Given the description of an element on the screen output the (x, y) to click on. 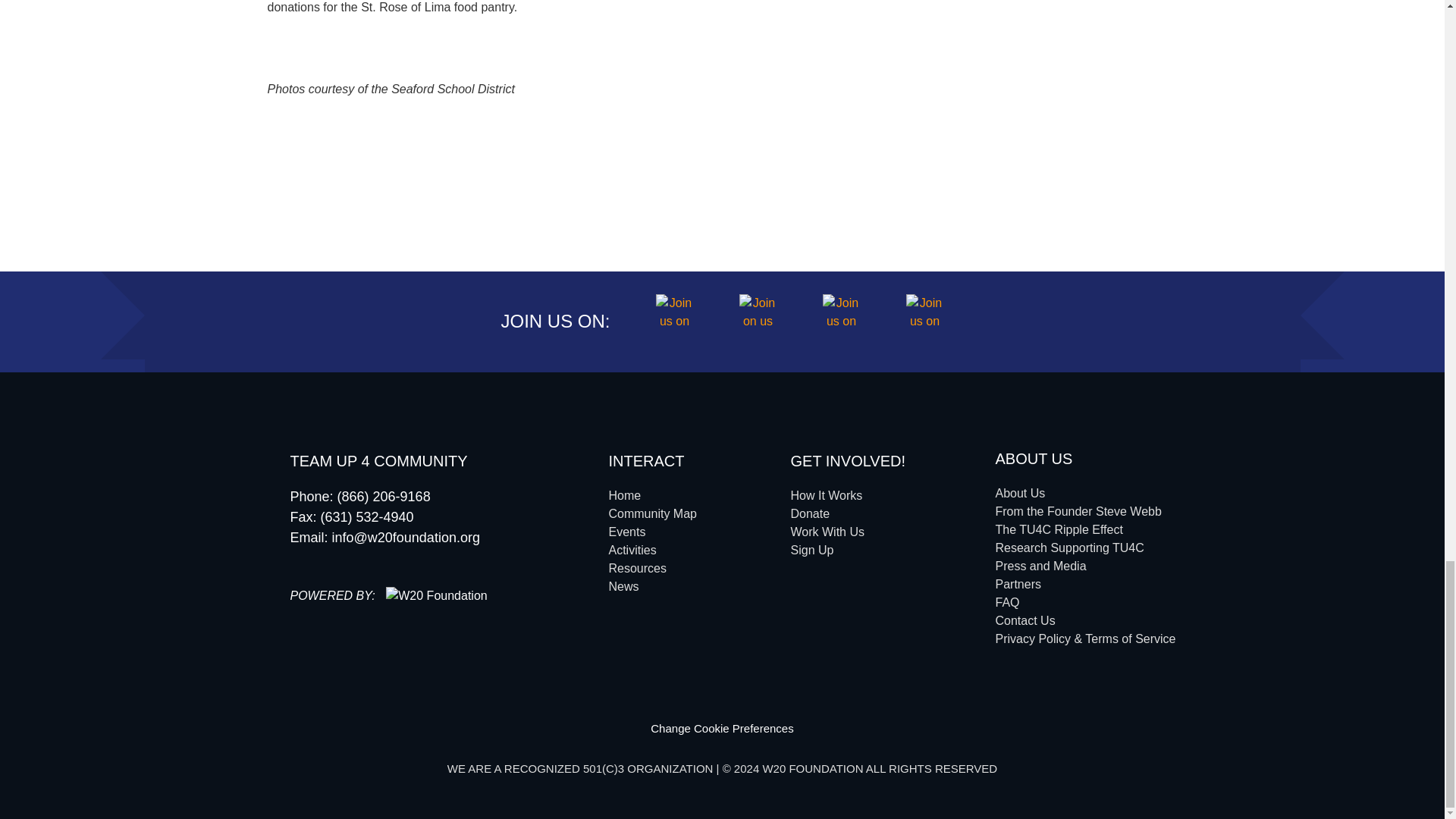
Home (624, 495)
Activities (632, 549)
Events (626, 531)
Community Map (651, 513)
